Given the description of an element on the screen output the (x, y) to click on. 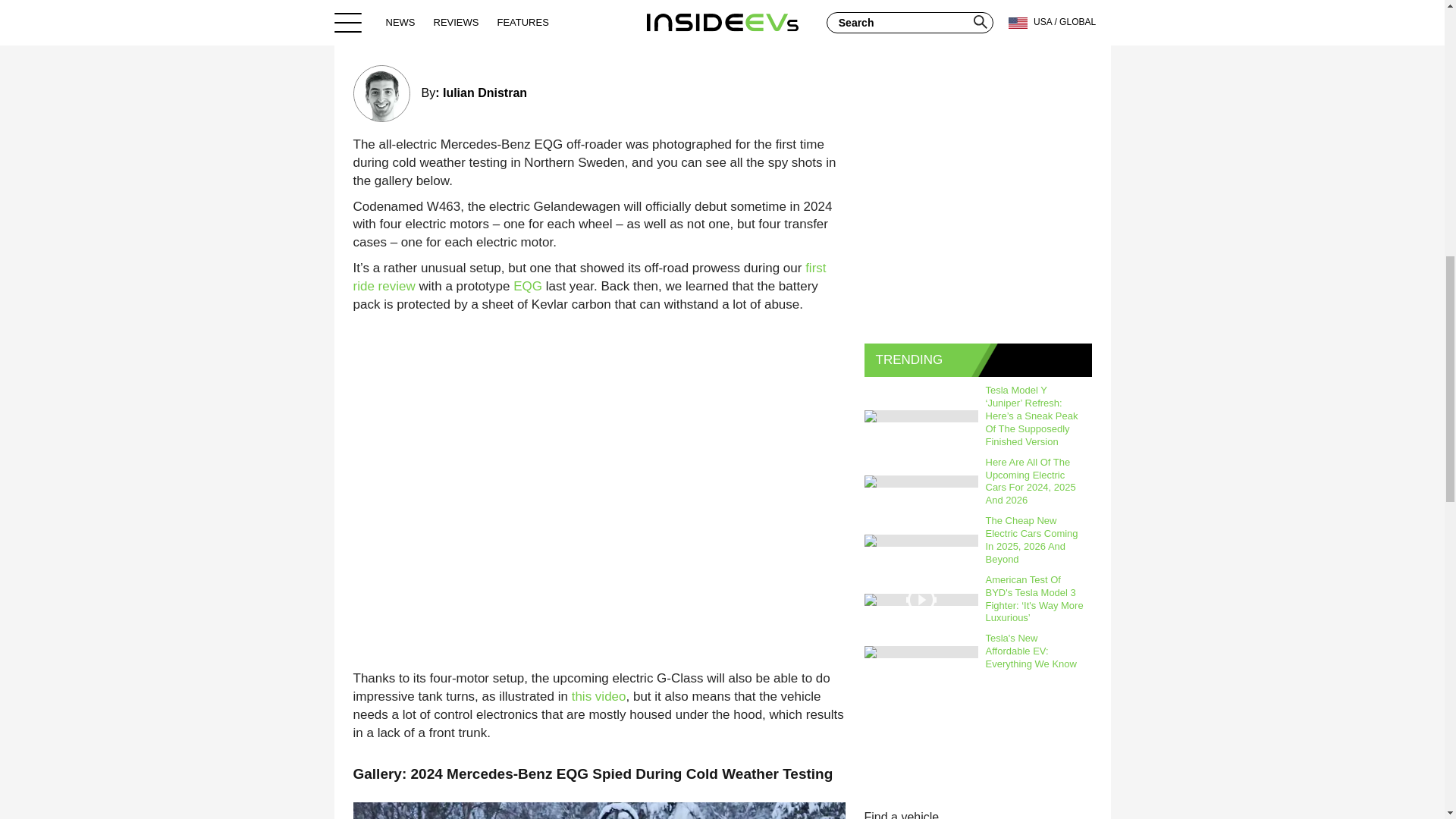
first ride review (590, 277)
EQG (527, 286)
this video (599, 696)
Iulian Dnistran (484, 92)
